Given the description of an element on the screen output the (x, y) to click on. 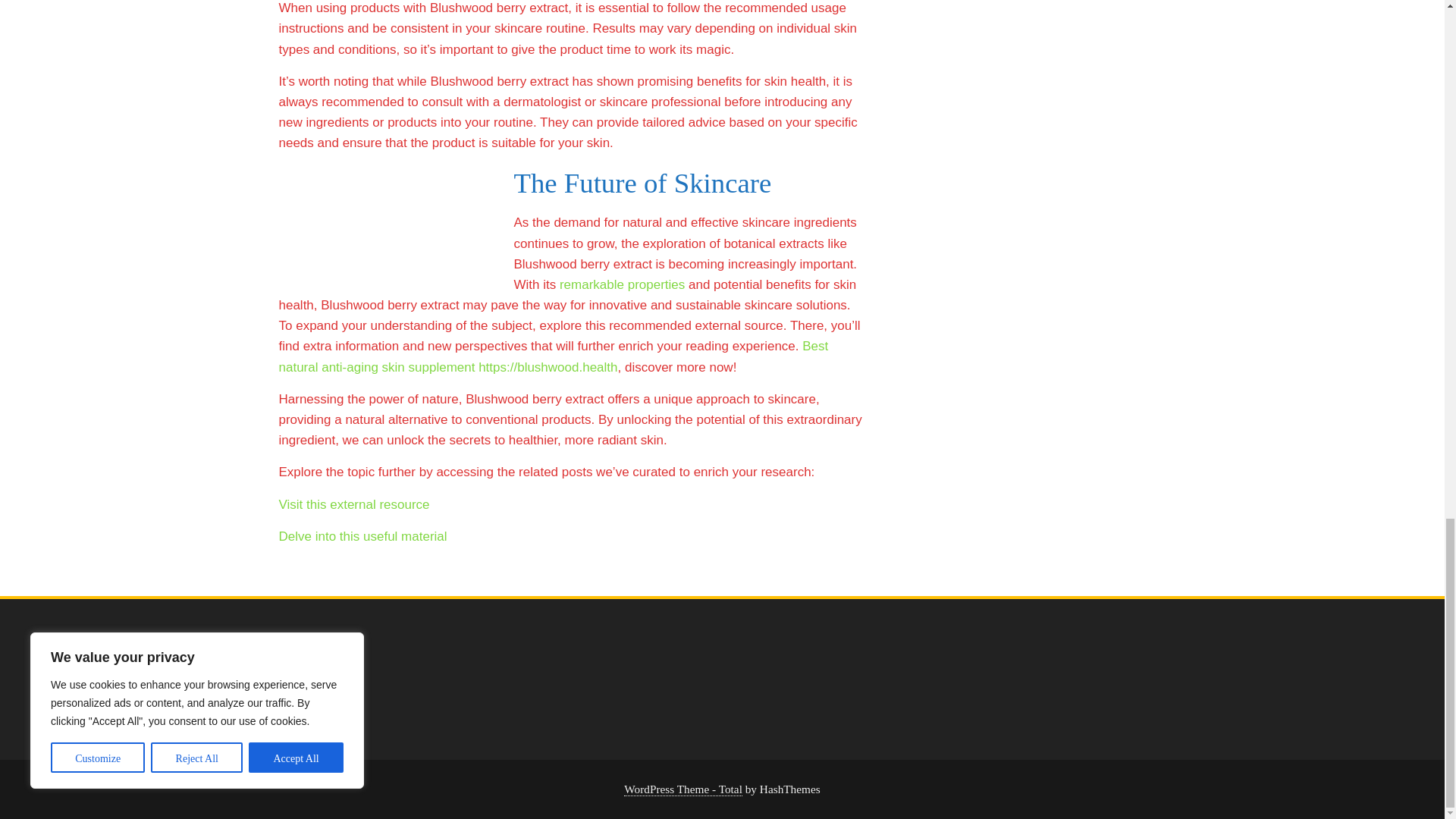
Visit this external resource (354, 504)
Delve into this useful material (362, 536)
remarkable properties (621, 284)
